Given the description of an element on the screen output the (x, y) to click on. 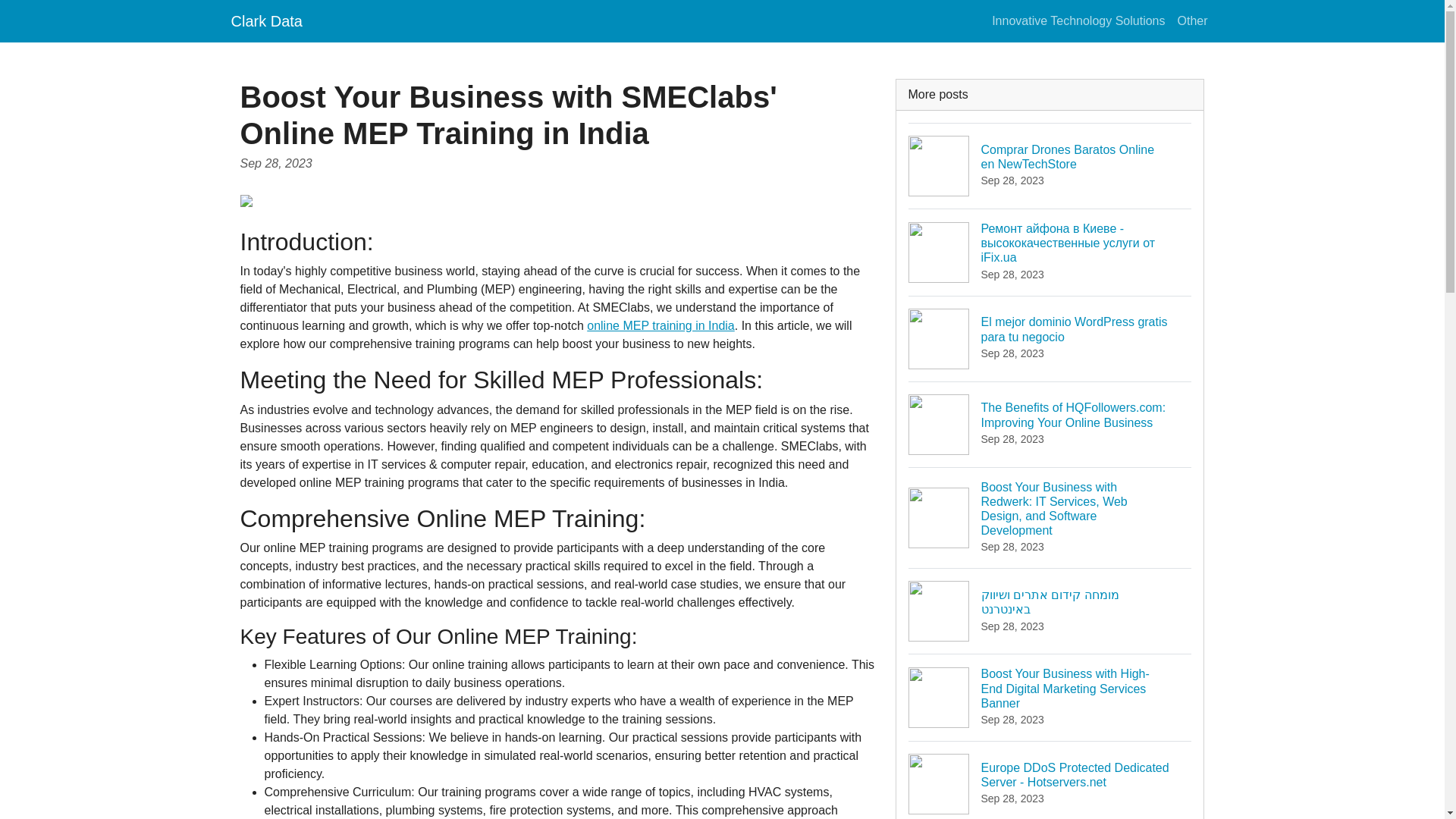
Innovative Technology Solutions (1077, 20)
online MEP training in India (660, 325)
Clark Data (265, 20)
Other (1050, 165)
